Given the description of an element on the screen output the (x, y) to click on. 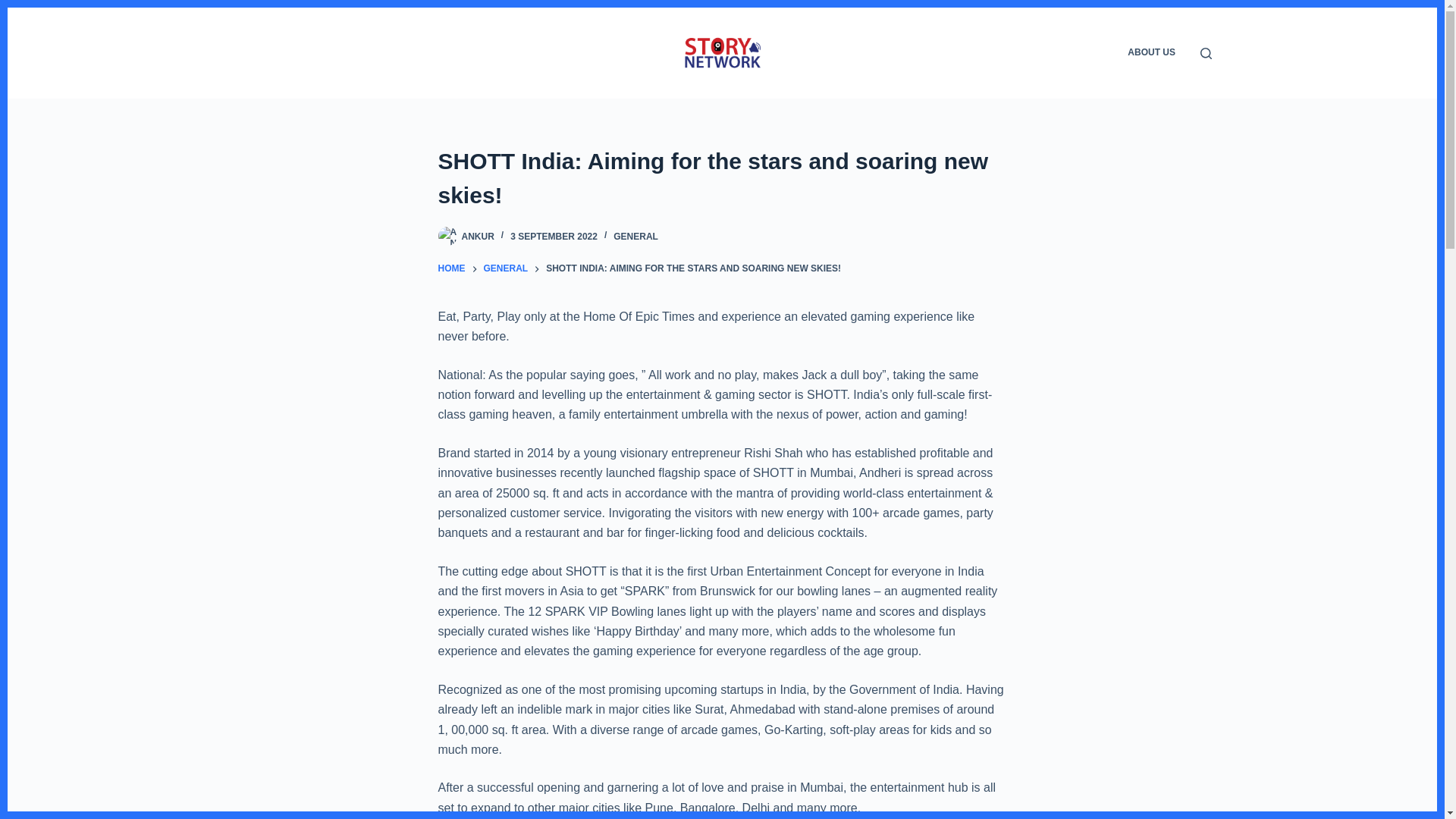
Posts by Ankur (477, 235)
HOME (451, 268)
ANKUR (477, 235)
GENERAL (505, 268)
SHOTT India: Aiming for the stars and soaring new skies! (722, 178)
GENERAL (635, 235)
Skip to content (15, 7)
